Given the description of an element on the screen output the (x, y) to click on. 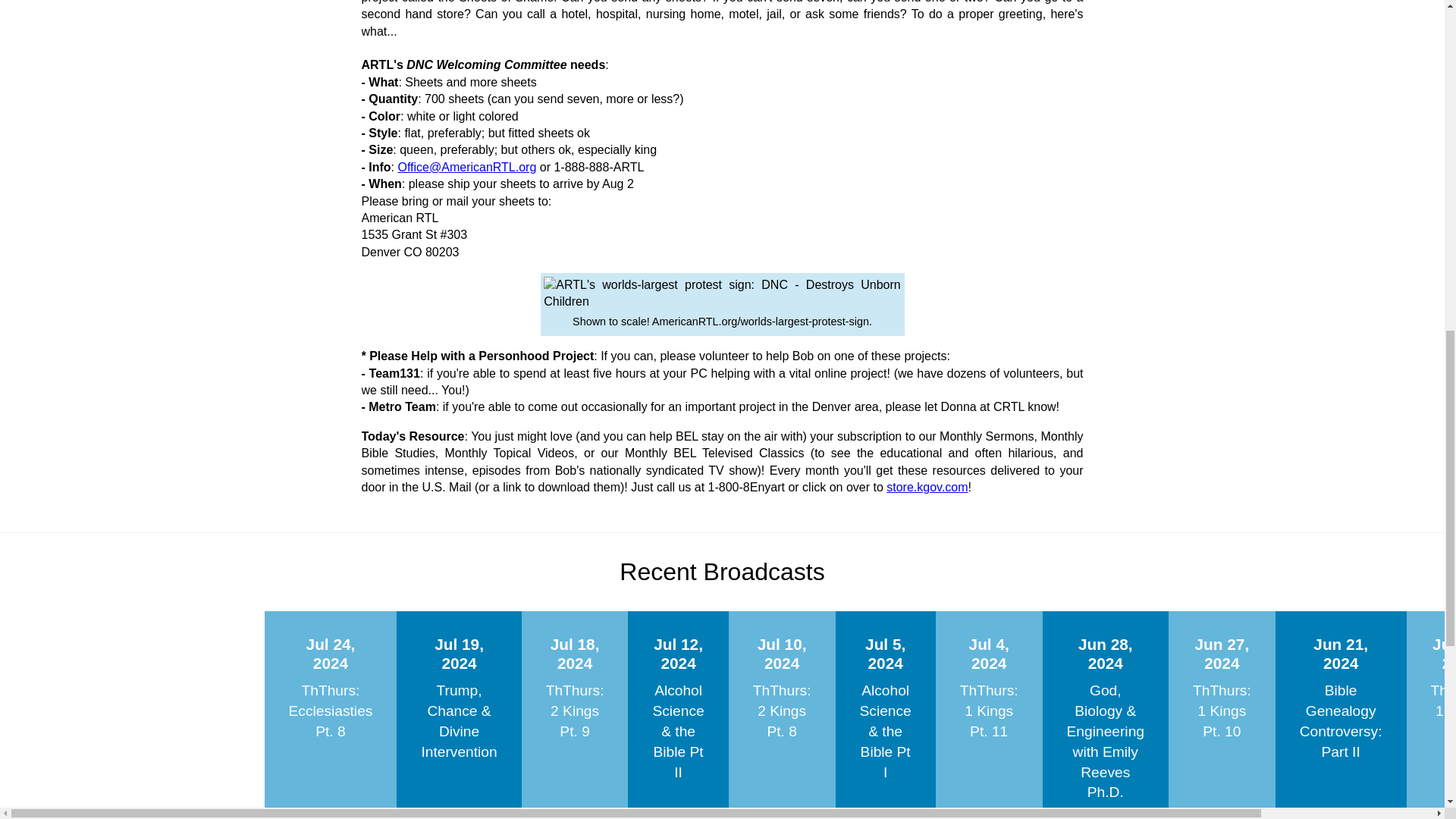
ThThurs: Ecclesiasties Pt. 8 (330, 710)
ThThurs: 2 Kings Pt. 9 (575, 710)
store.kgov.com (927, 486)
